Given the description of an element on the screen output the (x, y) to click on. 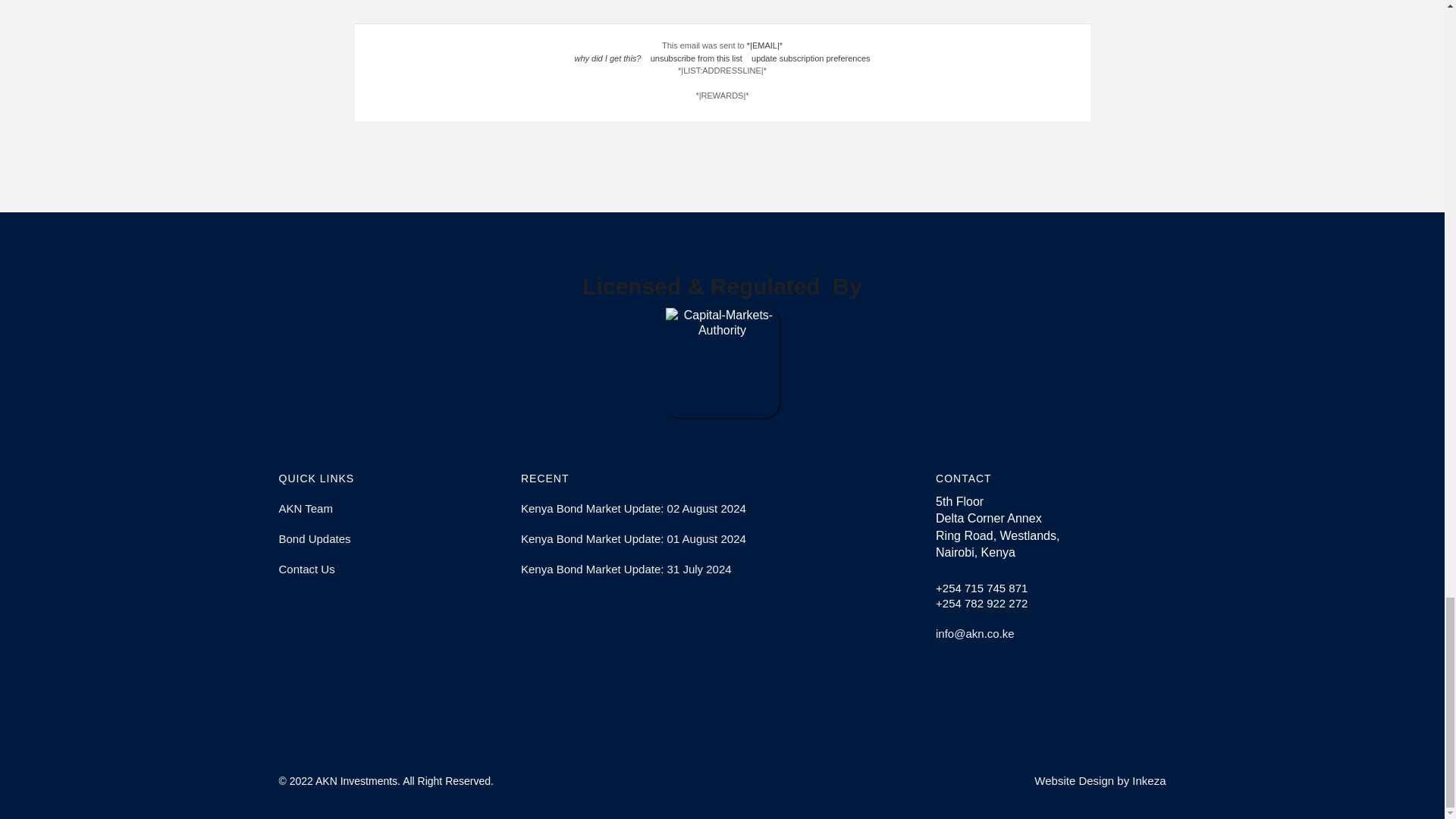
AKN Team (393, 508)
Kenya Bond Market Update: 31 July 2024 (722, 569)
Contact Us (393, 569)
Kenya Bond Market Update: 01 August 2024 (722, 539)
Bond Updates (393, 539)
Website Design by Inkeza (1099, 780)
Kenya Bond Market Update: 02 August 2024 (722, 508)
update subscription preferences (810, 58)
unsubscribe from this list (696, 58)
why did I get this? (606, 58)
